Given the description of an element on the screen output the (x, y) to click on. 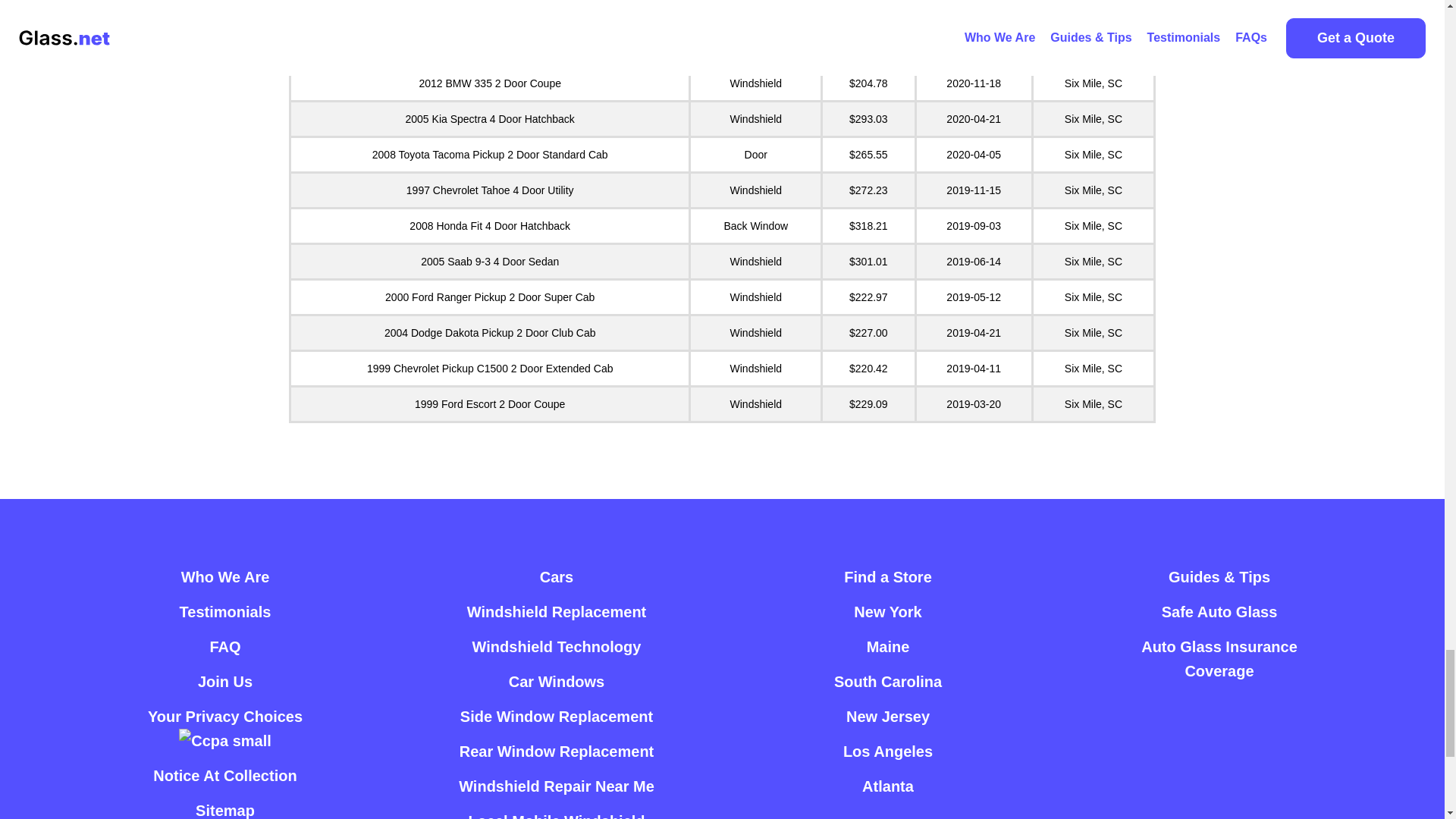
Glass.NET Website Sitemap  (224, 806)
Windshield Technology (556, 646)
Join Us (224, 681)
Windshield Technology and Recommendations  (556, 646)
New York (887, 611)
Notice At Collection (224, 775)
Repair or Replace Auto Glass By Car Make (556, 576)
Maine (888, 646)
Car Windows (556, 681)
Rear Window Replacement (556, 751)
